Given the description of an element on the screen output the (x, y) to click on. 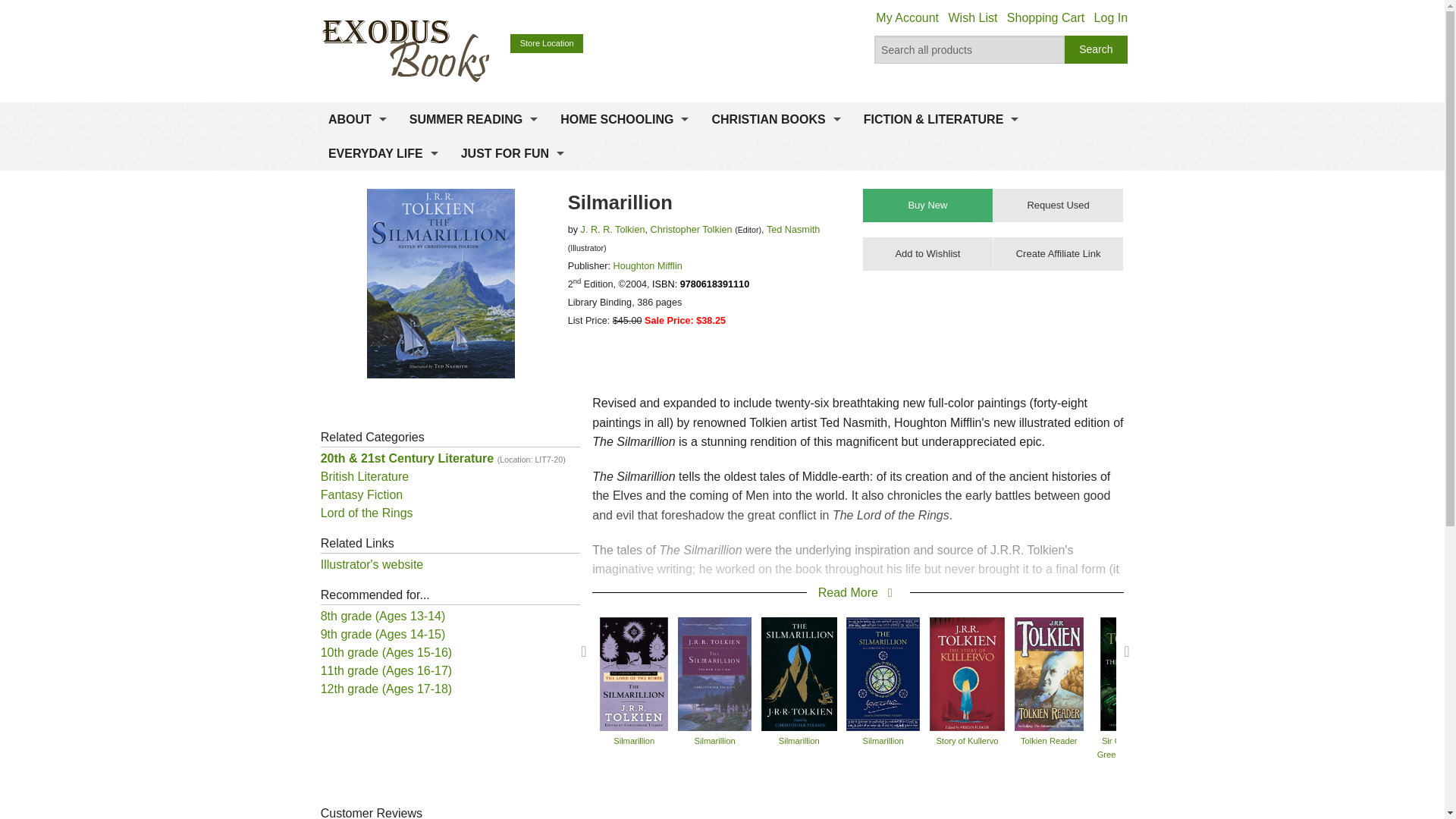
Silmarillion (715, 672)
ABOUT (357, 119)
Request Used (1057, 205)
My Account (907, 17)
Search (1096, 49)
HOME SCHOOLING (624, 119)
Search (1096, 49)
Create Affiliate Link (1057, 254)
Store Location (547, 43)
Silmarillion (882, 672)
link to this item (1057, 254)
SUMMER READING (472, 119)
Search (1096, 49)
Read the Rules (473, 156)
Meet Exodus Books (357, 156)
